Given the description of an element on the screen output the (x, y) to click on. 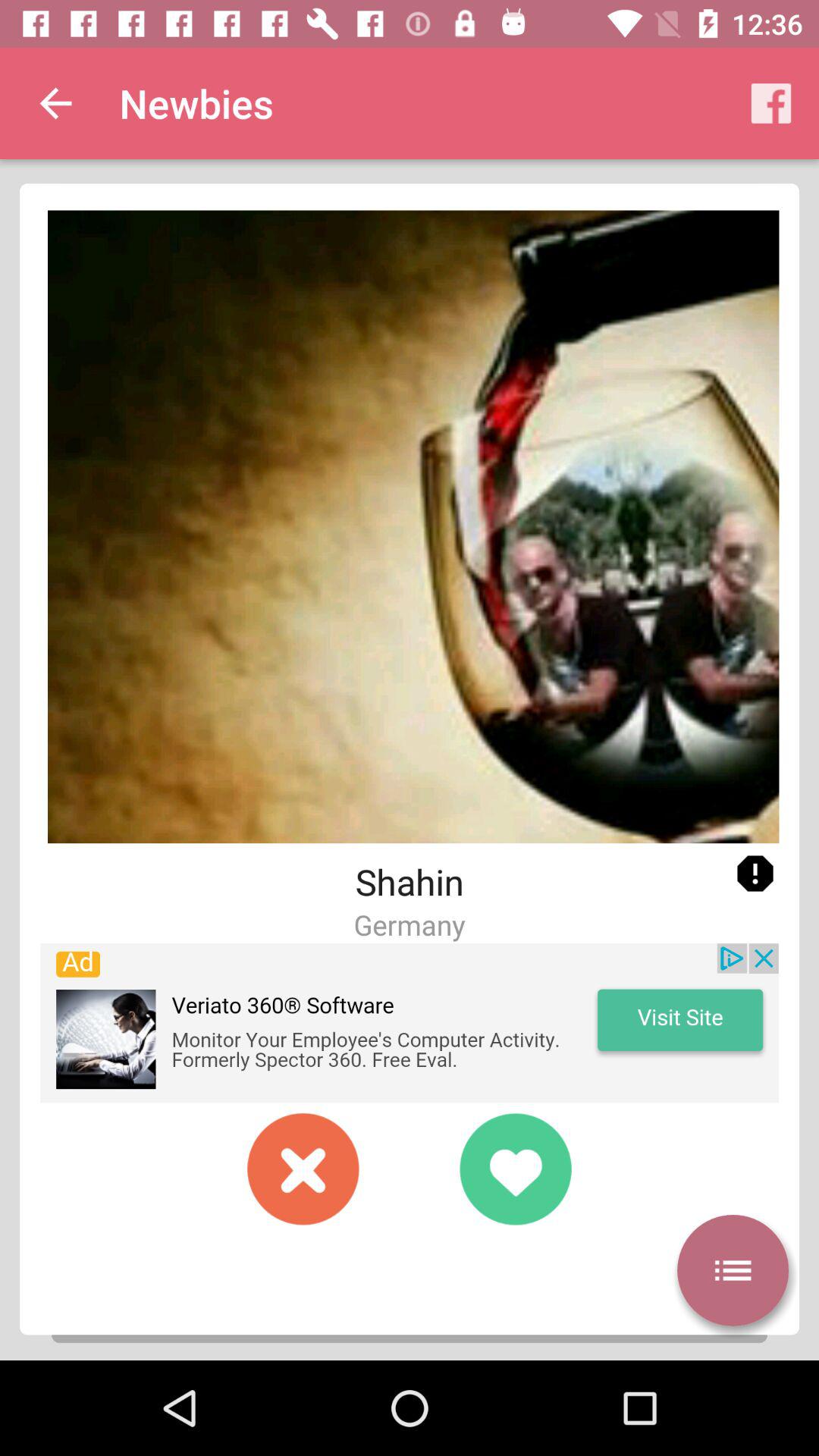
to make is favorite (515, 1169)
